Given the description of an element on the screen output the (x, y) to click on. 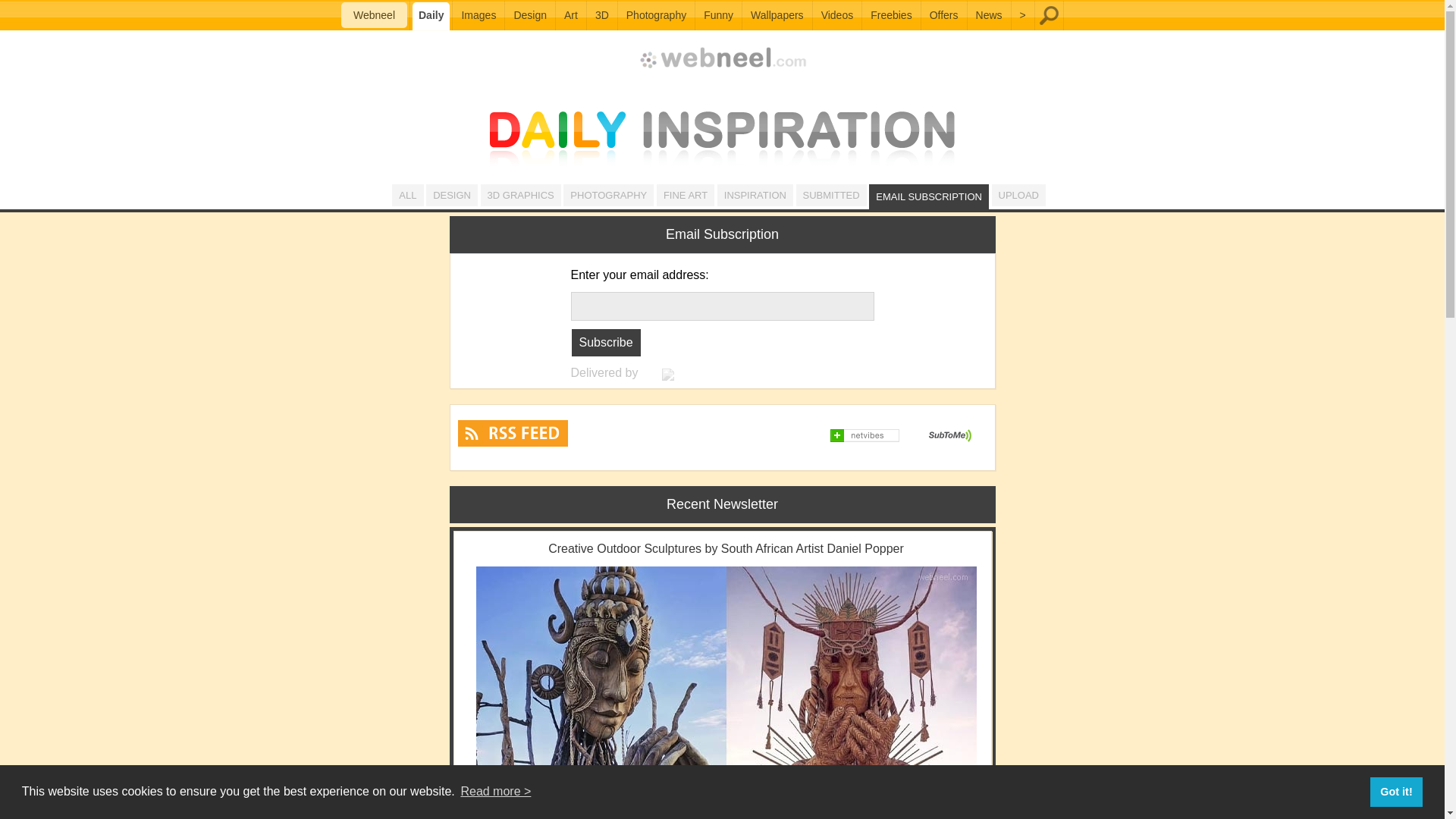
ALL (407, 195)
Got it! (1396, 791)
3D (601, 14)
Freebies (890, 14)
PHOTOGRAPHY (608, 195)
Offers (943, 14)
FINE ART (685, 195)
Images (478, 14)
Photography (656, 14)
Design (529, 14)
